Given the description of an element on the screen output the (x, y) to click on. 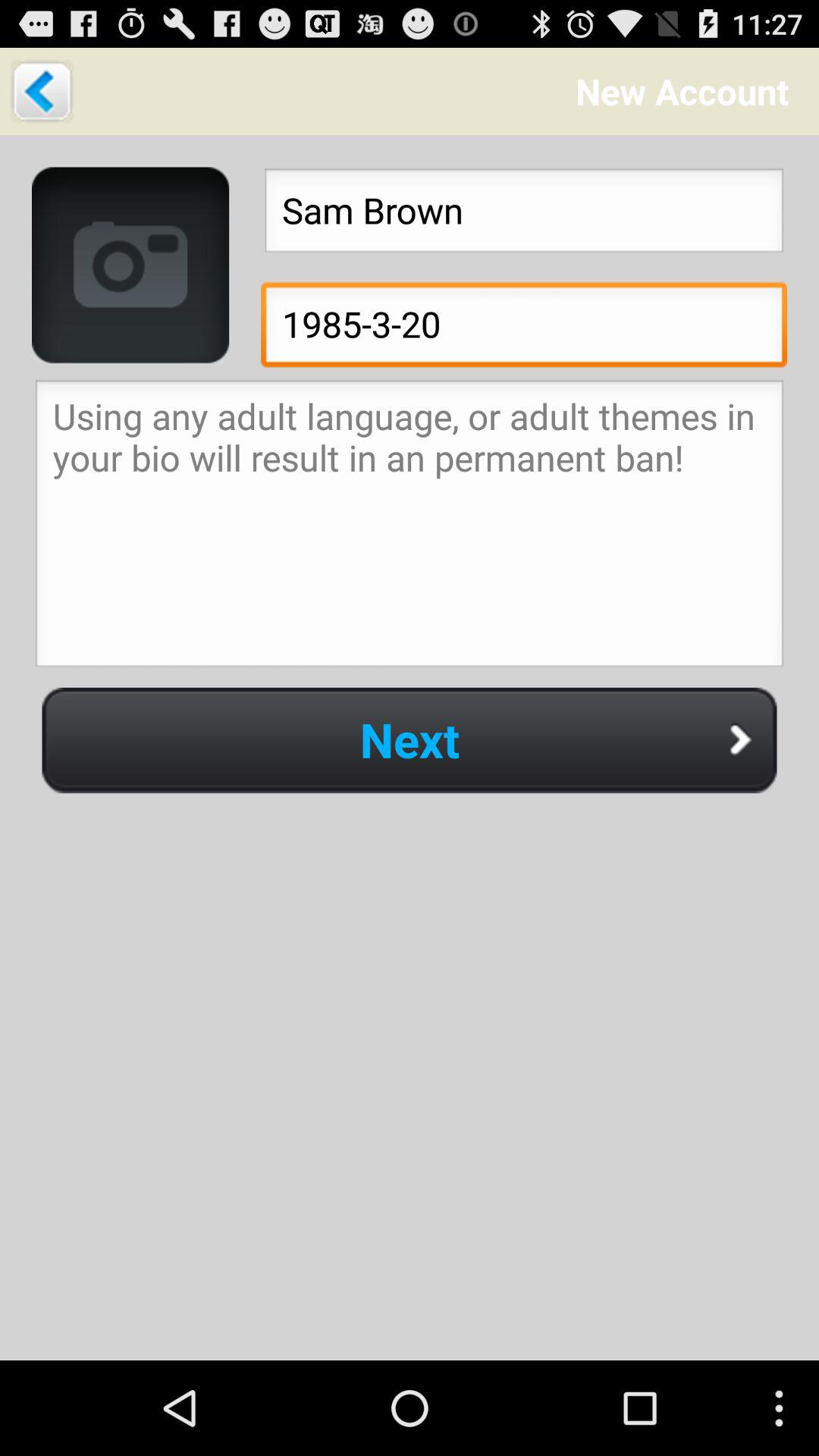
write a bio (409, 527)
